Given the description of an element on the screen output the (x, y) to click on. 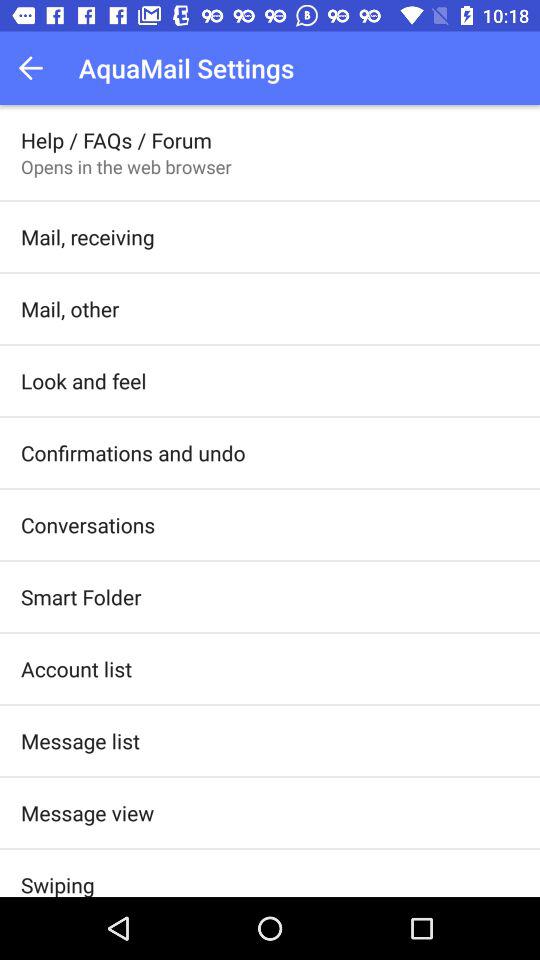
click swiping item (57, 883)
